Given the description of an element on the screen output the (x, y) to click on. 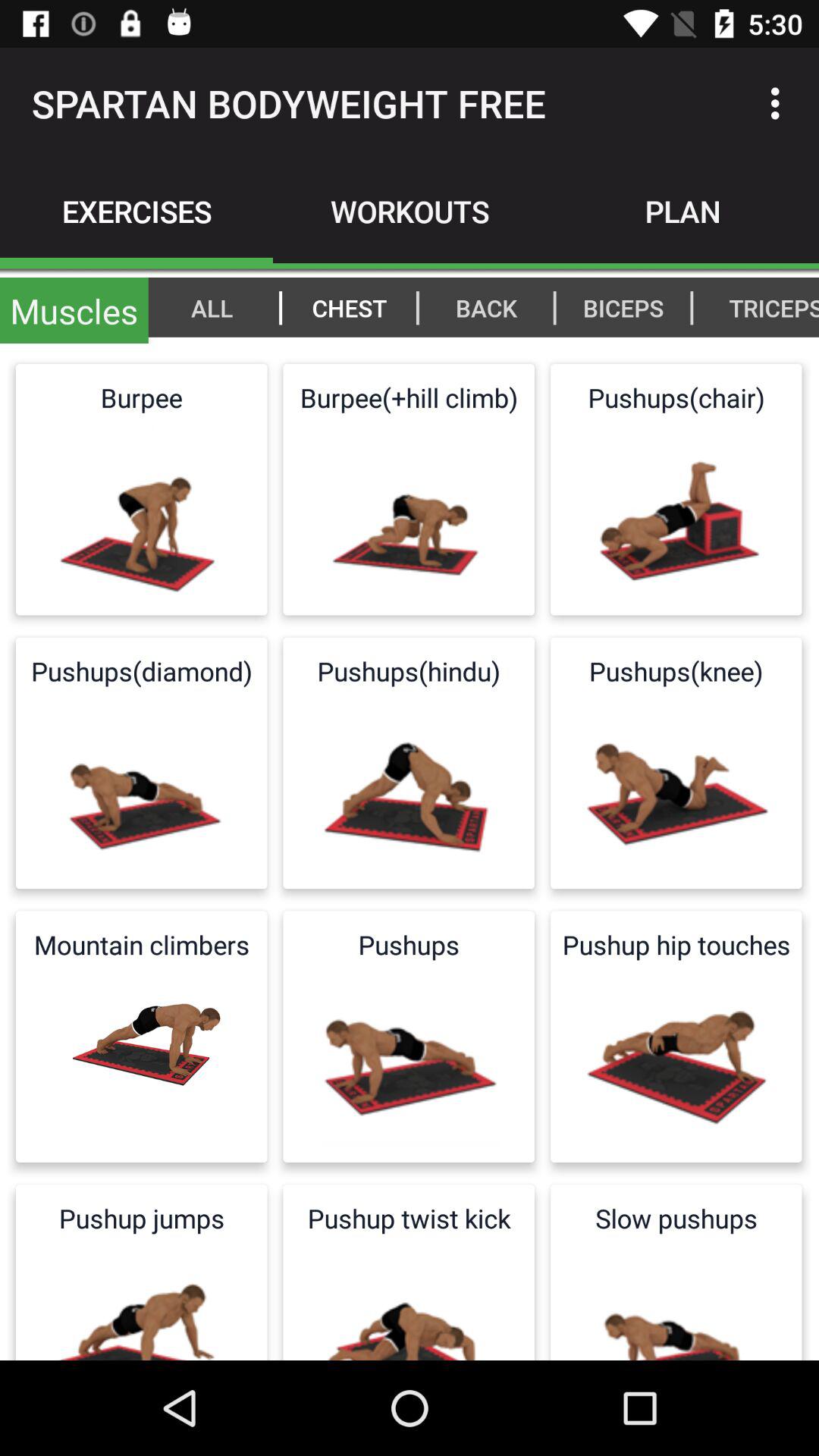
click the biceps item (623, 307)
